Given the description of an element on the screen output the (x, y) to click on. 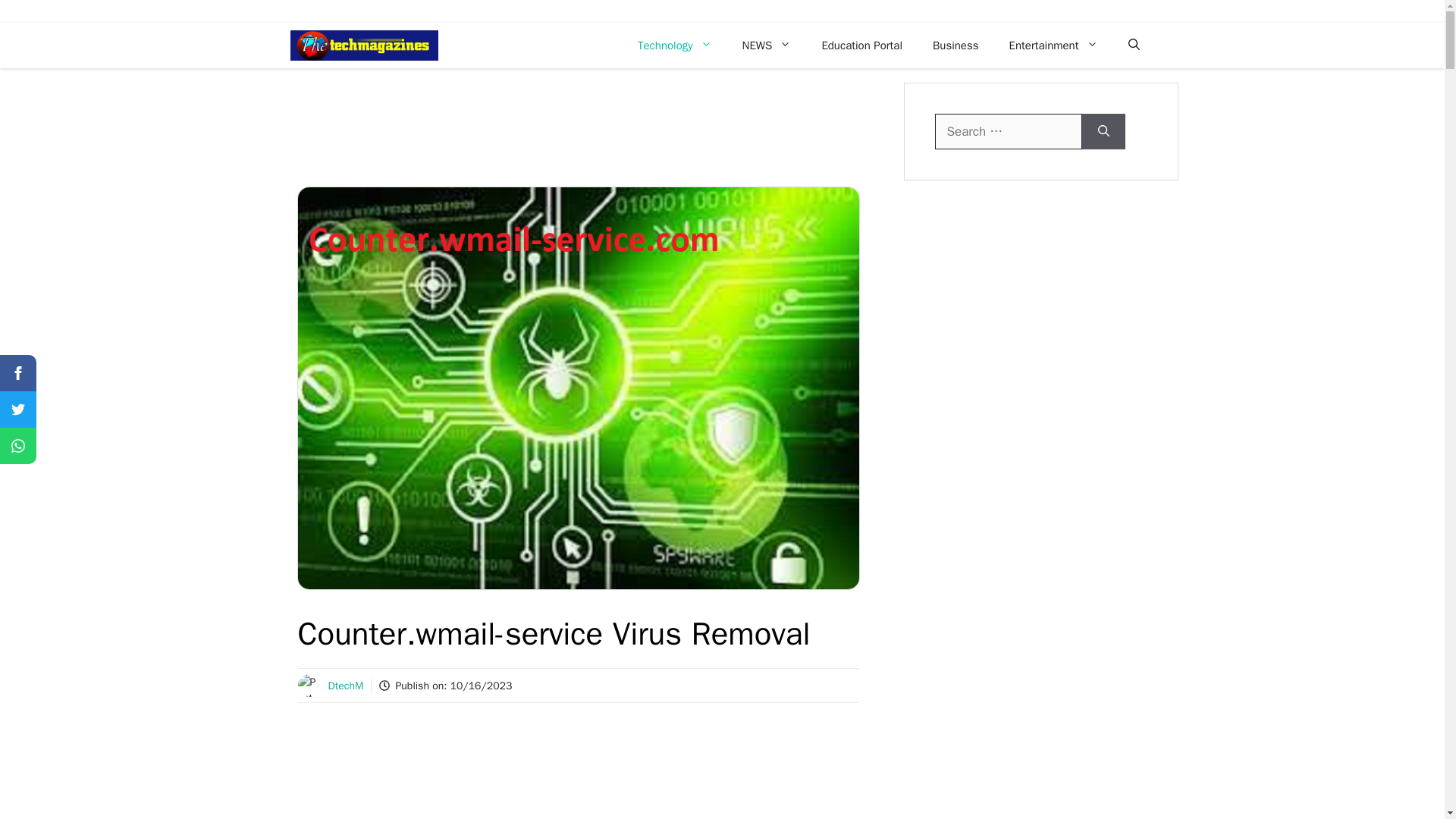
Entertainment (1053, 44)
DtechM (344, 685)
Advertisement (572, 147)
Technology (674, 44)
Advertisement (585, 773)
Business (955, 44)
Search for: (1007, 131)
NEWS (766, 44)
Education Portal (861, 44)
